Given the description of an element on the screen output the (x, y) to click on. 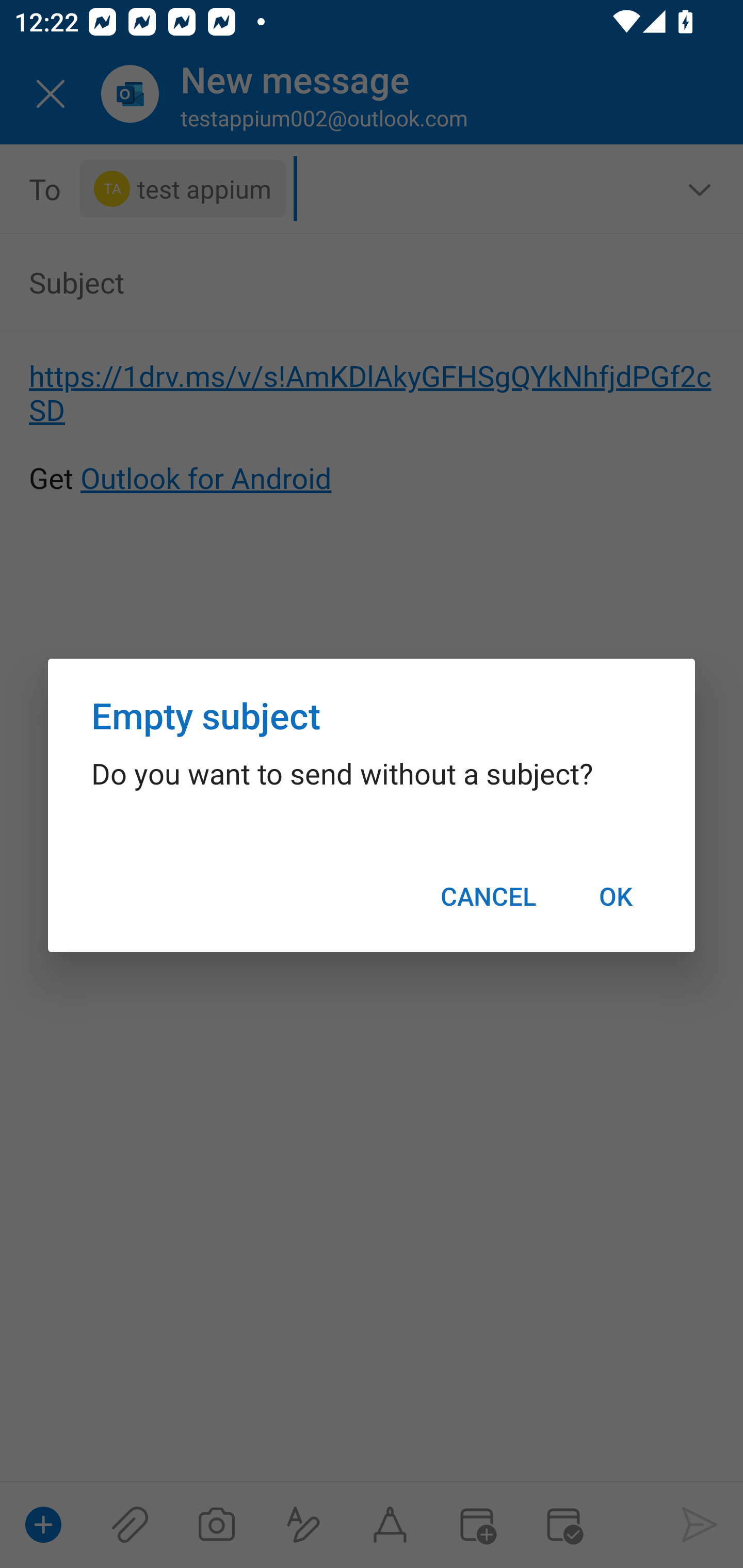
CANCEL (488, 895)
OK (615, 895)
